Given the description of an element on the screen output the (x, y) to click on. 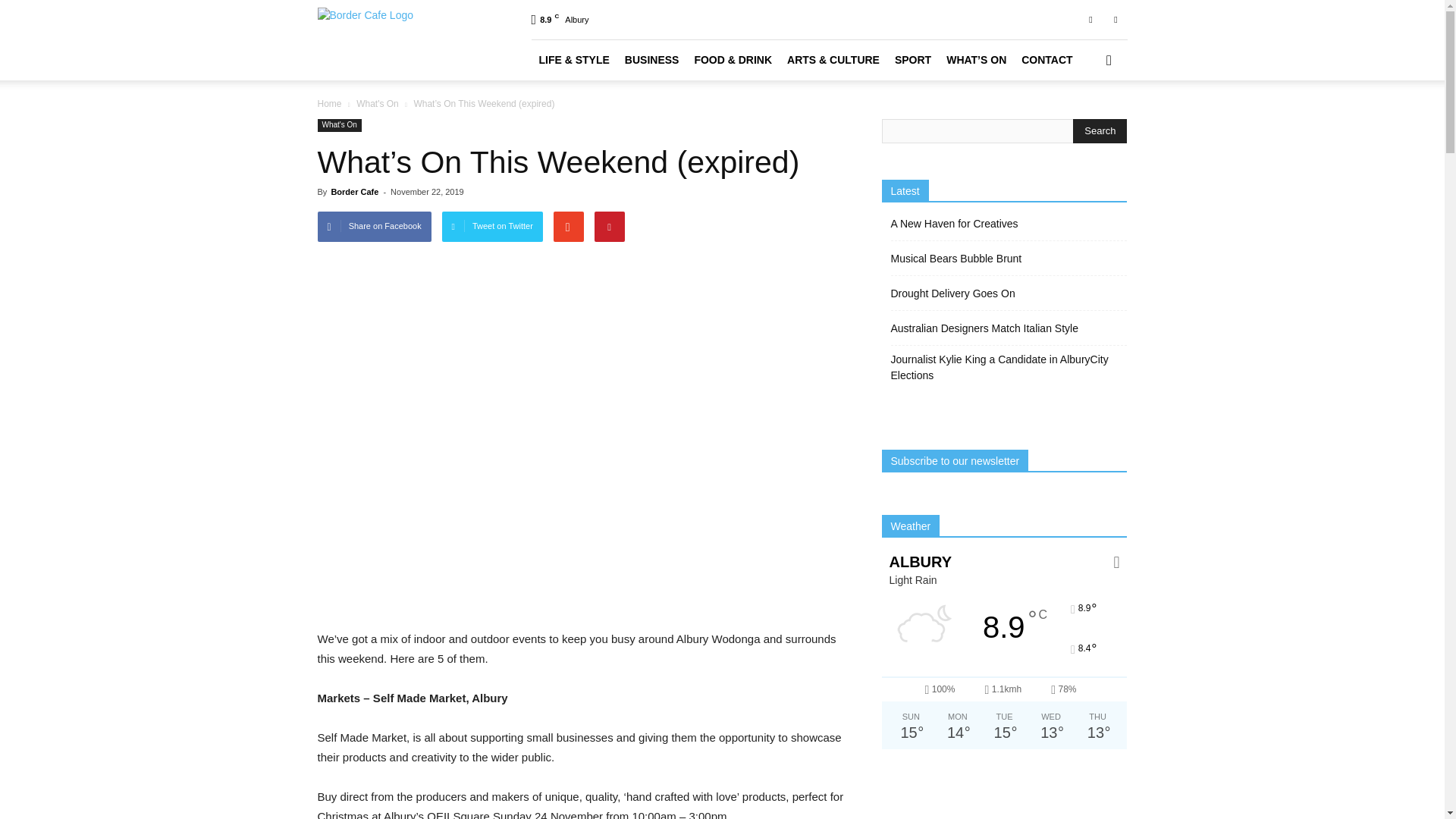
View all posts in What's On (377, 103)
Instagram (1114, 19)
BUSINESS (652, 60)
SPORT (912, 60)
Search (1099, 130)
CONTACT (1046, 60)
Facebook (1090, 19)
